Given the description of an element on the screen output the (x, y) to click on. 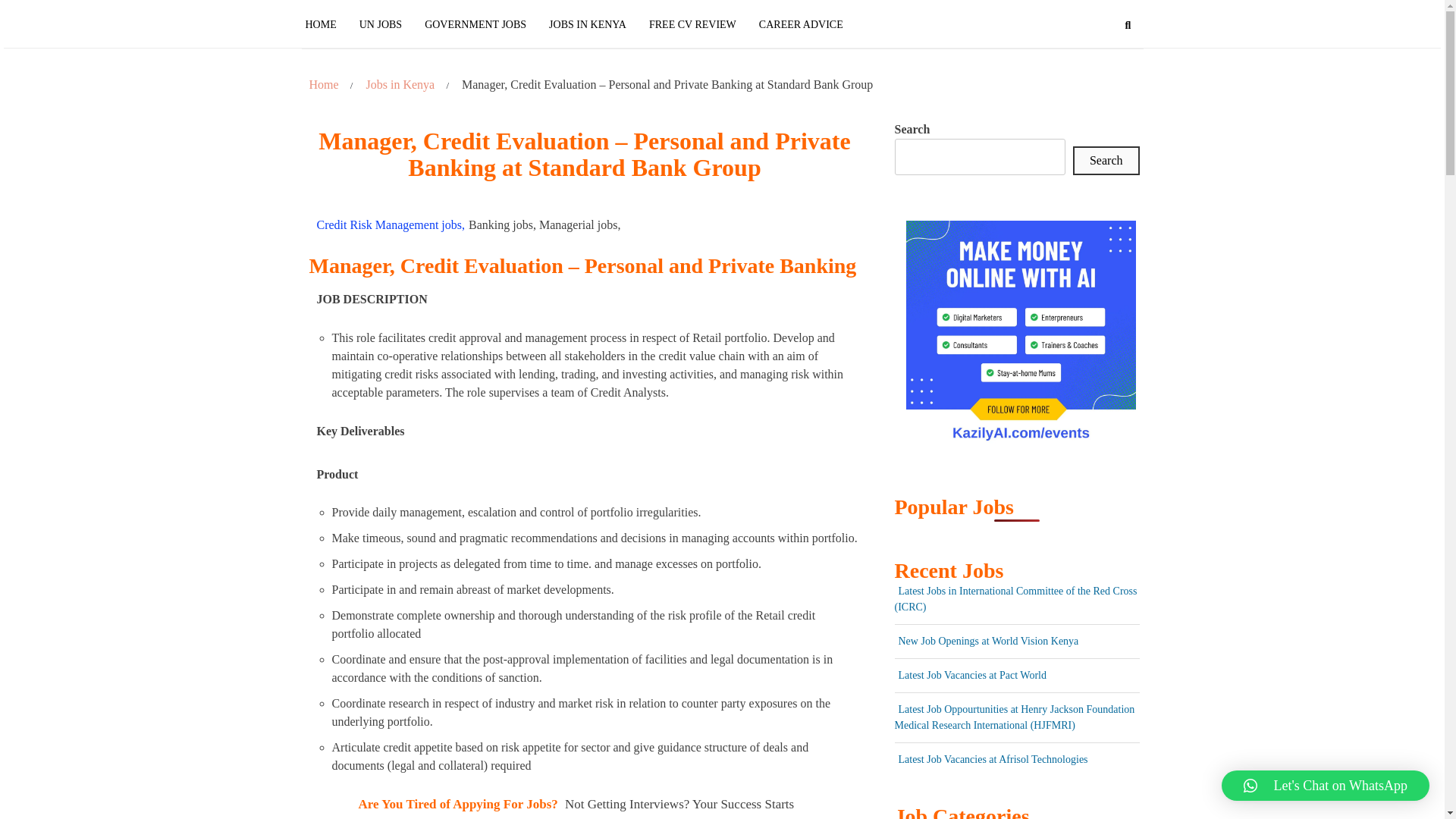
CAREER ADVICE (801, 24)
JOBS IN KENYA (587, 24)
GOVERNMENT JOBS (475, 24)
Credit Risk Management jobs, (390, 224)
Search (1100, 87)
UN JOBS (380, 24)
Jobs in Kenya (400, 84)
HOME (325, 24)
Get a FREE CV Review - Click Here. (676, 816)
Search (1127, 25)
Home (323, 84)
Search (1106, 160)
FREE CV REVIEW (692, 24)
